Given the description of an element on the screen output the (x, y) to click on. 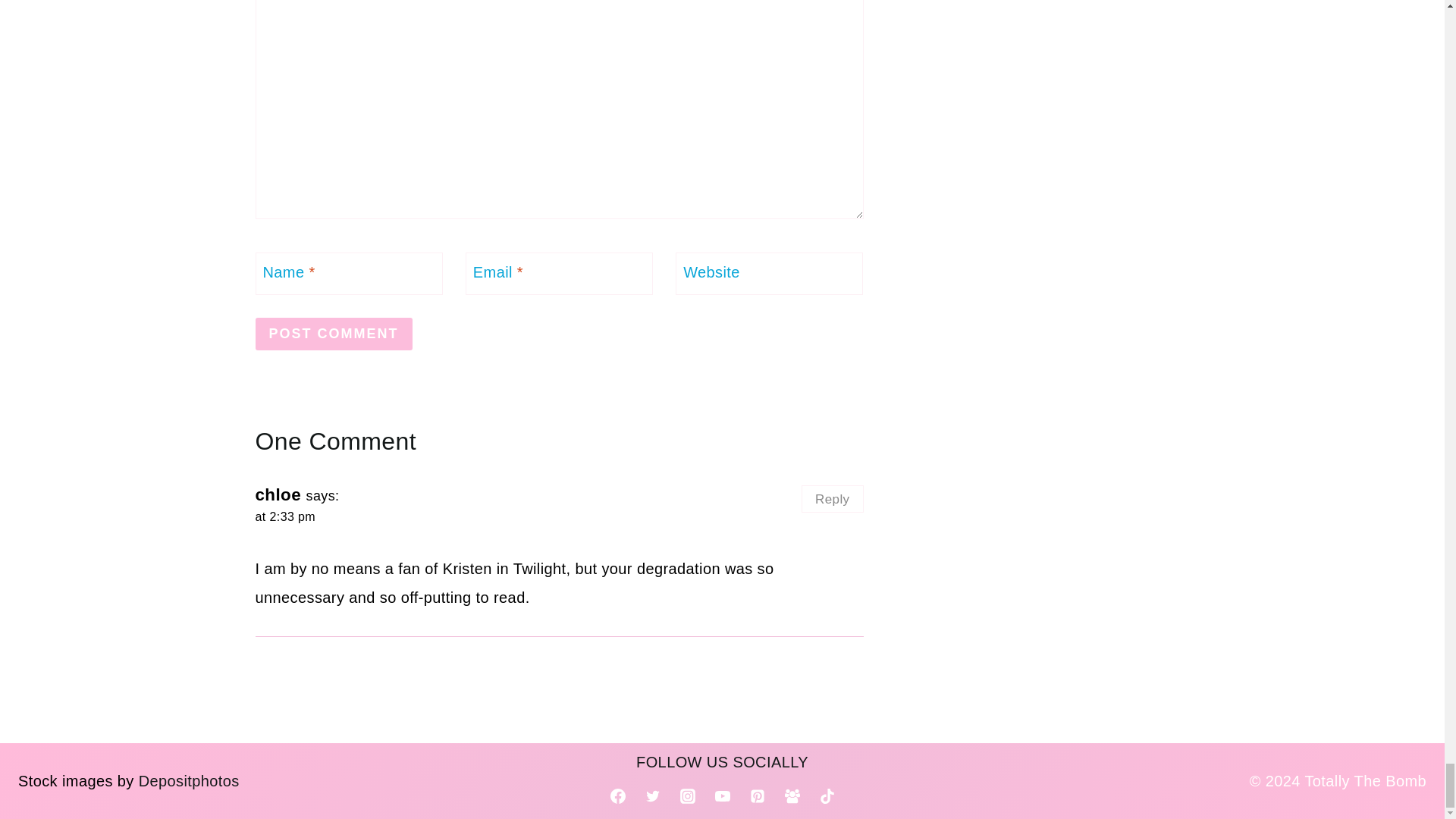
Post Comment (333, 333)
